Given the description of an element on the screen output the (x, y) to click on. 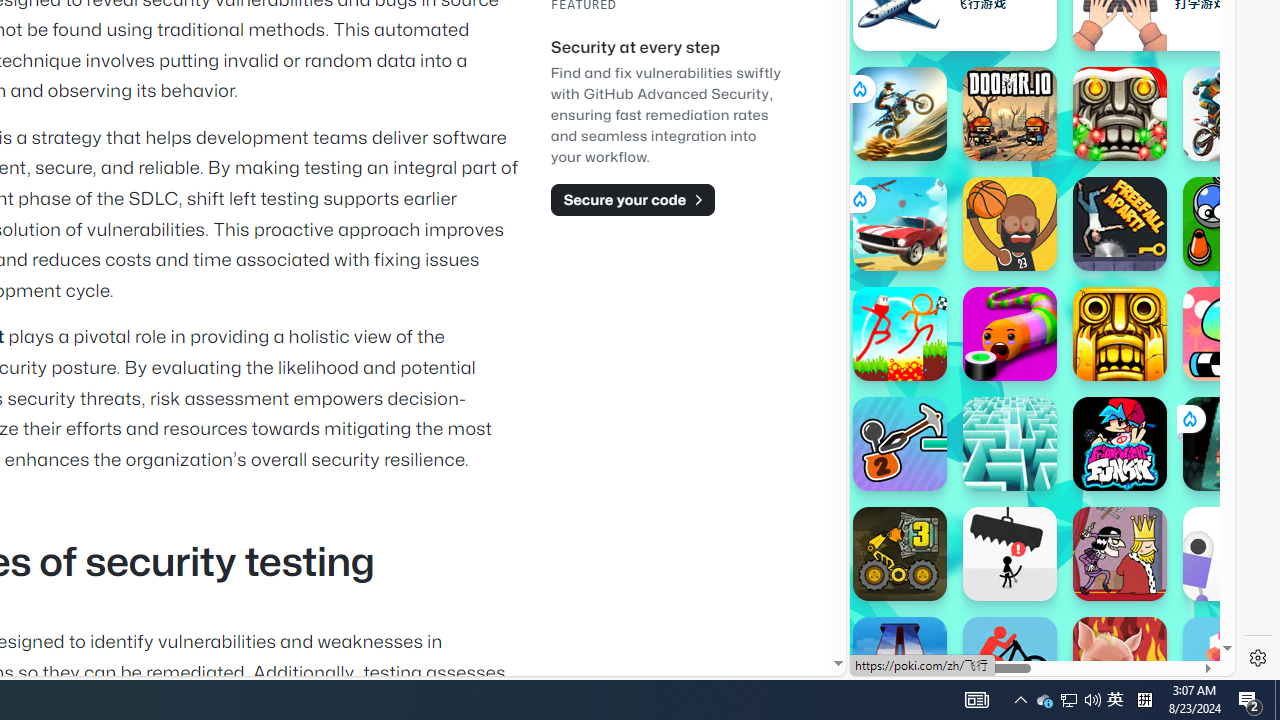
BoxRob 3 BoxRob 3 (899, 553)
Stickman Parkour 3 Stickman Parkour 3 (899, 333)
Doomr.io (1009, 113)
Blumgi Slime Blumgi Slime (1229, 333)
Hills of Steel (925, 290)
Temple Run 2 Temple Run 2 (1119, 333)
Stunt Paradise (899, 223)
Friday Night Funkin' (1119, 443)
Crossy Road (1229, 664)
Stunt Paradise Stunt Paradise (899, 223)
Click to scroll right (1196, 247)
Stickman Climb 2 (899, 443)
Avoid Dying (1009, 553)
Hills of Steel (943, 300)
